Given the description of an element on the screen output the (x, y) to click on. 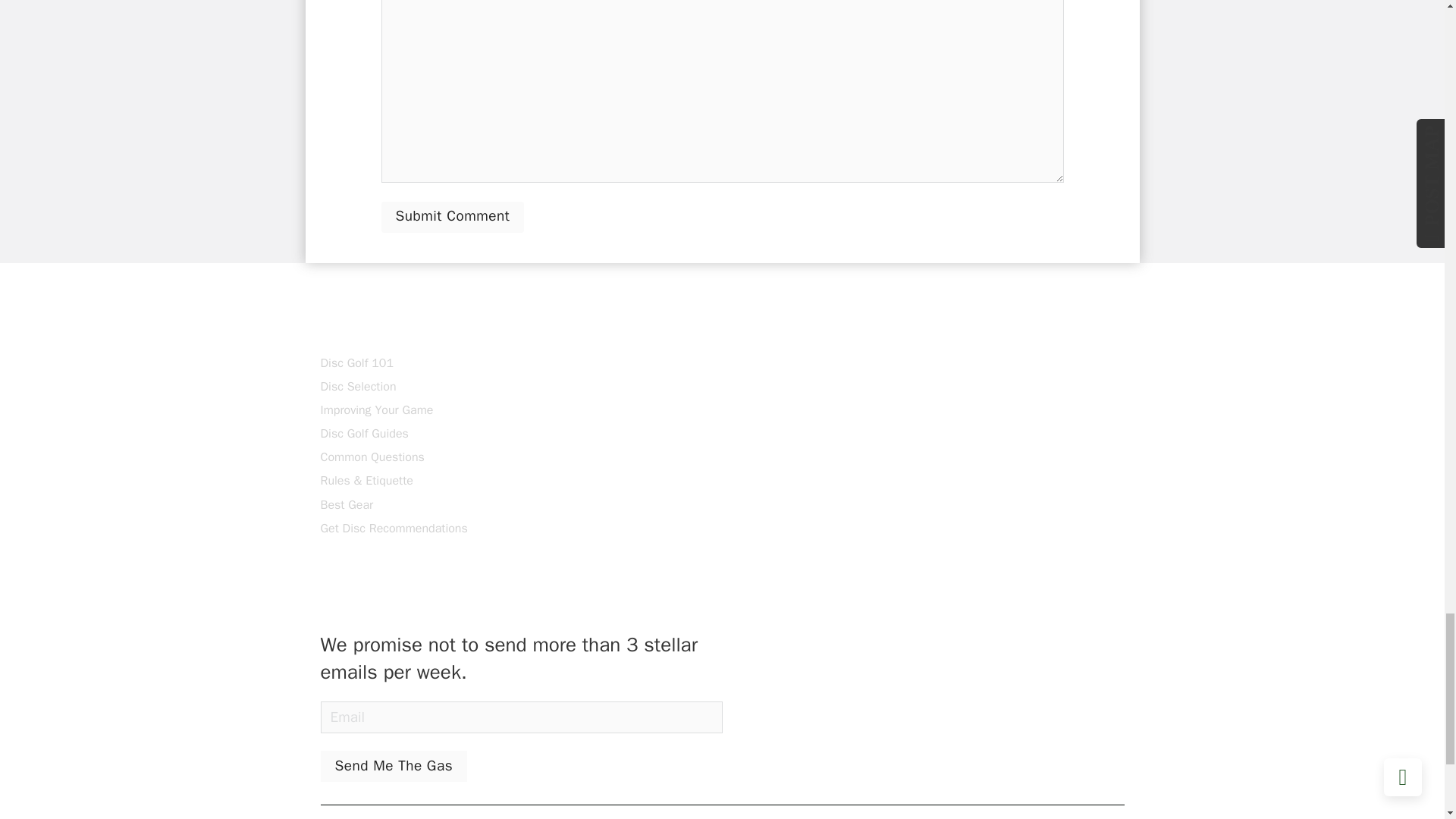
Submit Comment (452, 216)
